Given the description of an element on the screen output the (x, y) to click on. 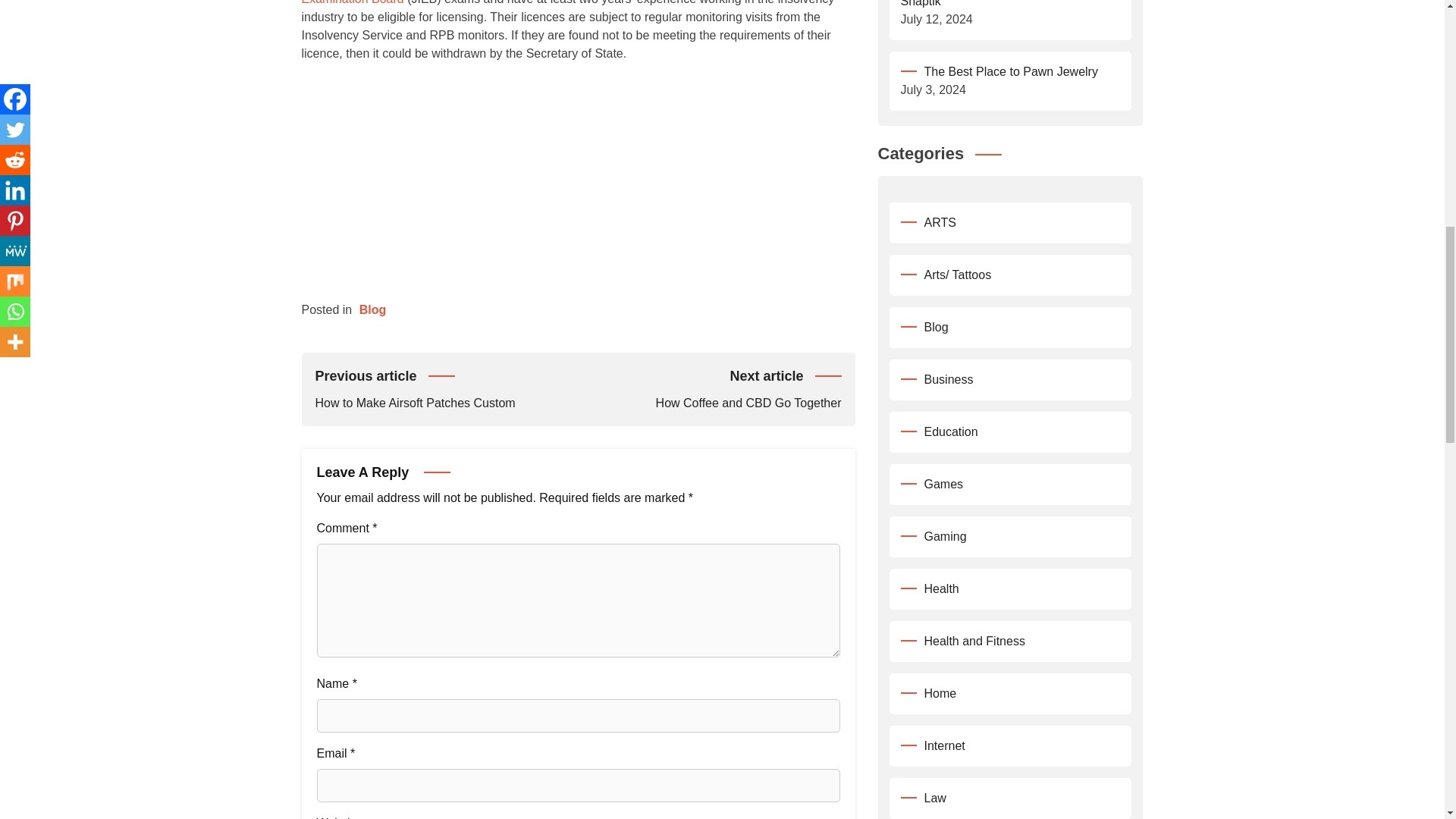
Blog (373, 309)
Joint Insolvency Examination Board (709, 387)
